Given the description of an element on the screen output the (x, y) to click on. 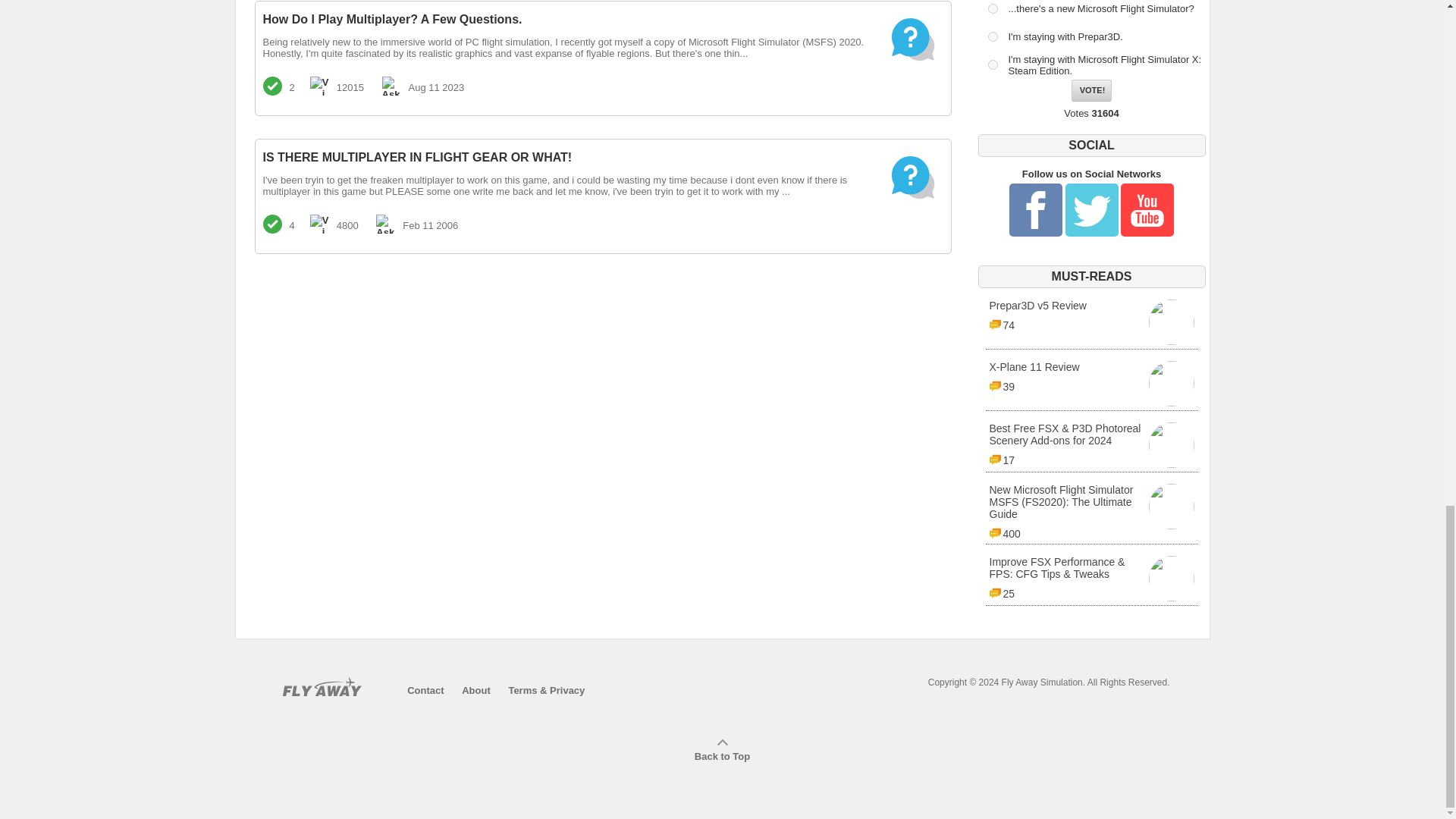
6 (992, 8)
7 (1090, 321)
Vote! (992, 36)
Vote! (1090, 383)
9 (1091, 90)
